Given the description of an element on the screen output the (x, y) to click on. 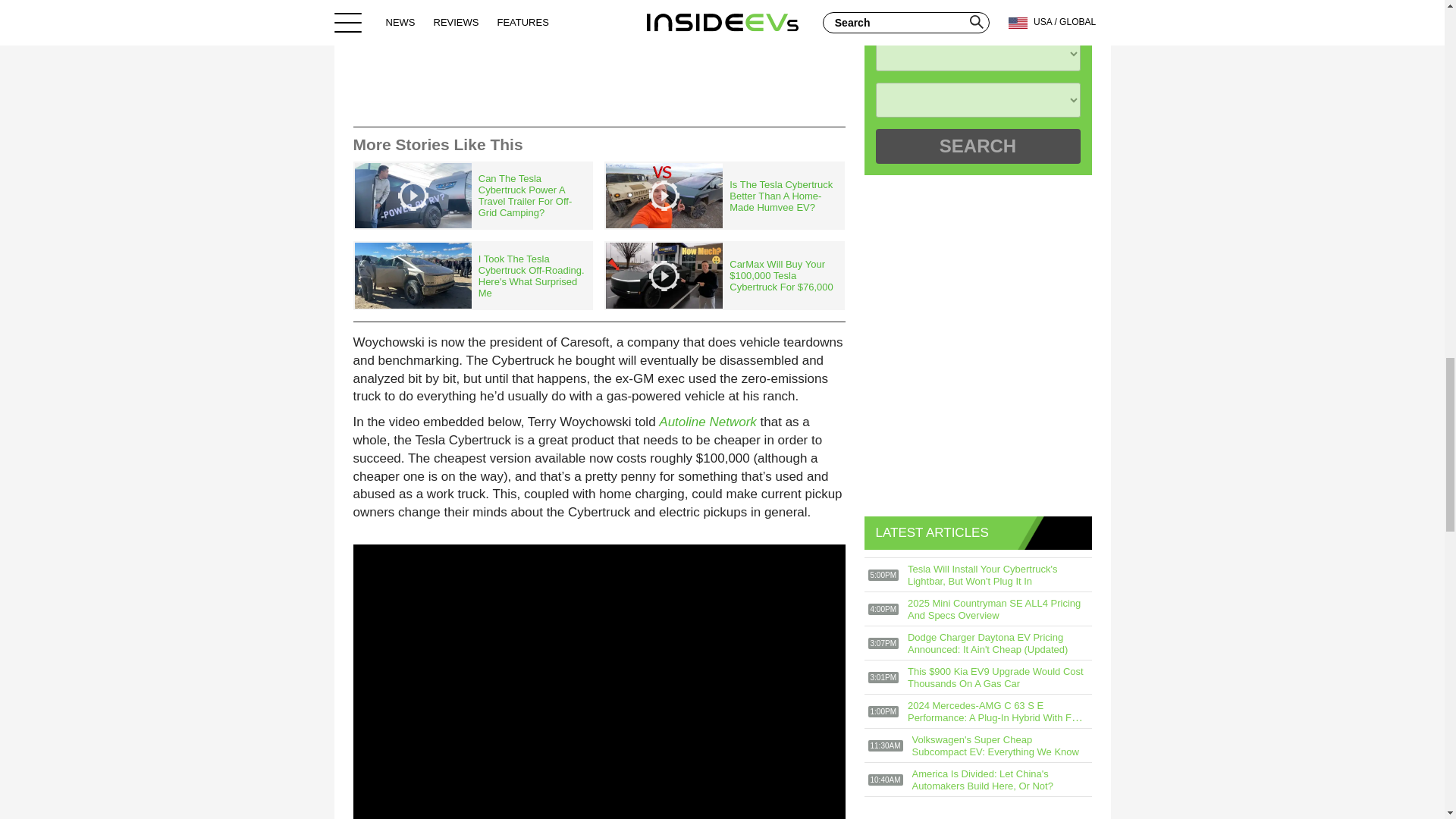
Search (977, 145)
Autoline Network (708, 421)
Is The Tesla Cybertruck Better Than A Home-Made Humvee EV? (724, 195)
